Given the description of an element on the screen output the (x, y) to click on. 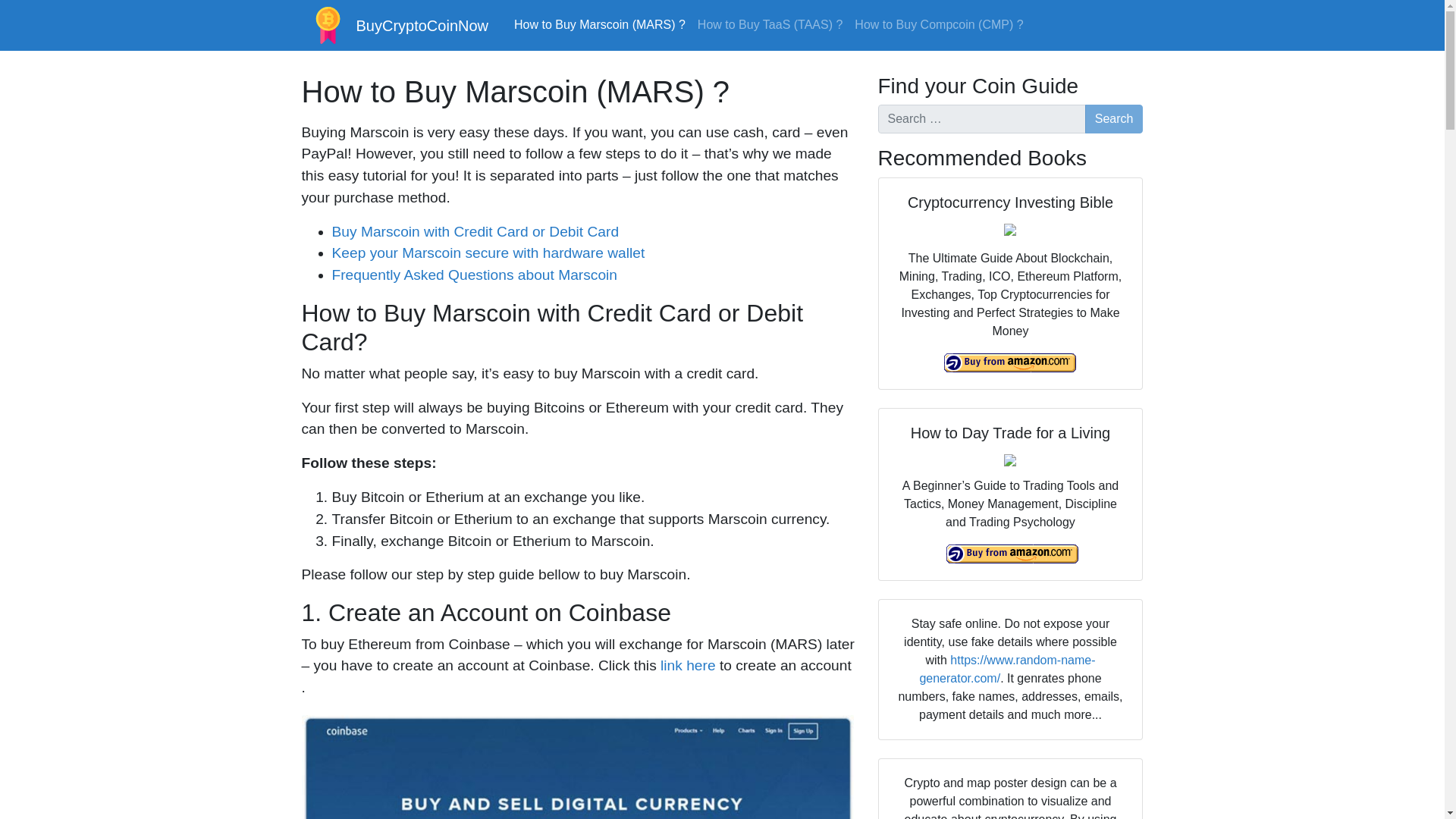
Frequently Asked Questions about Marscoin (474, 274)
BuyCryptoCoinNow (398, 25)
Keep your Marscoin secure with hardware wallet (488, 252)
Search (1113, 118)
BuyCryptoCoinNow (398, 25)
Buy Marscoin with Credit Card or Debit Card (475, 231)
link here (688, 665)
Search (1113, 118)
